Given the description of an element on the screen output the (x, y) to click on. 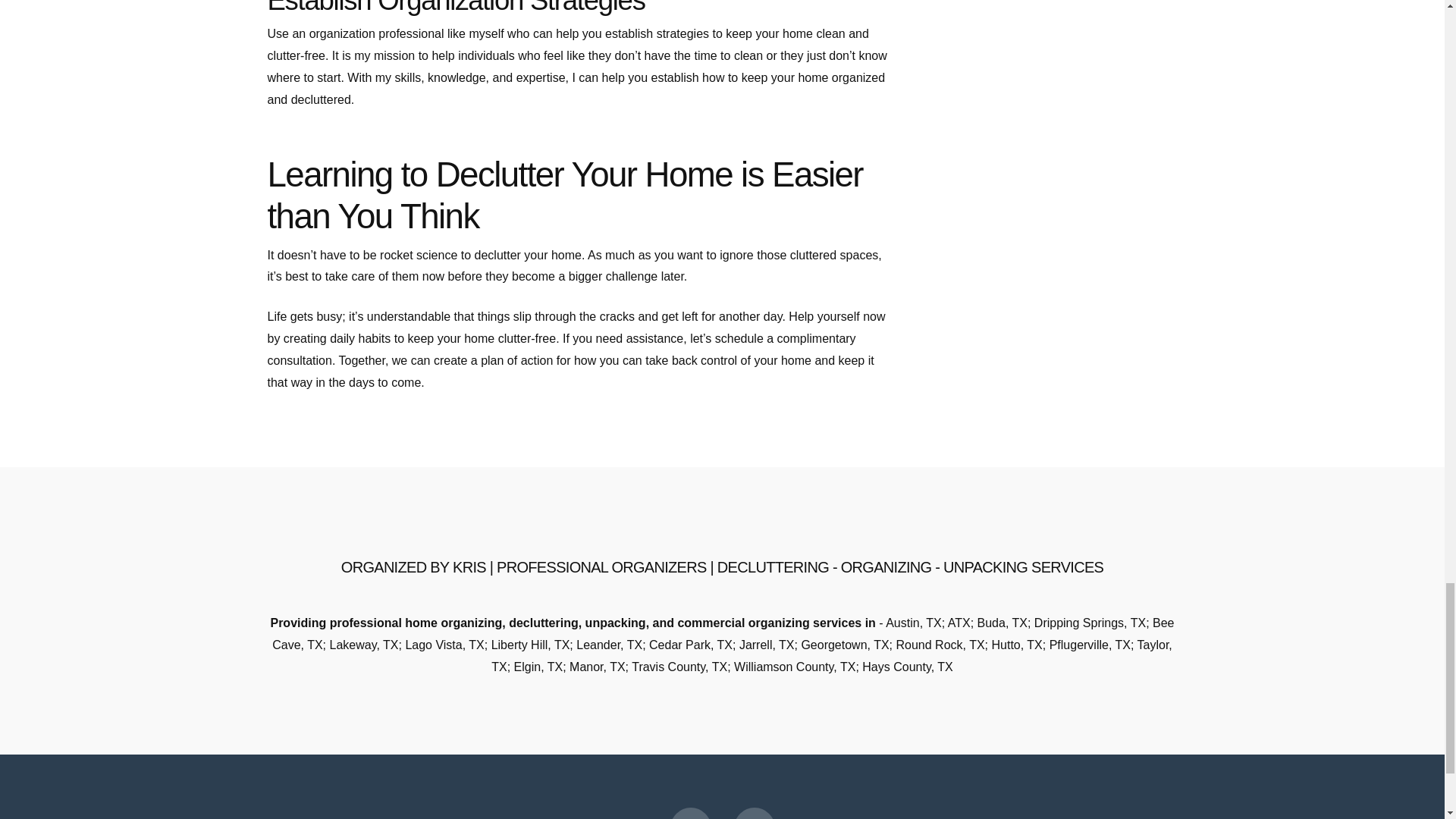
Instagram (753, 813)
organization professional like myself (405, 33)
Facebook (690, 813)
